Given the description of an element on the screen output the (x, y) to click on. 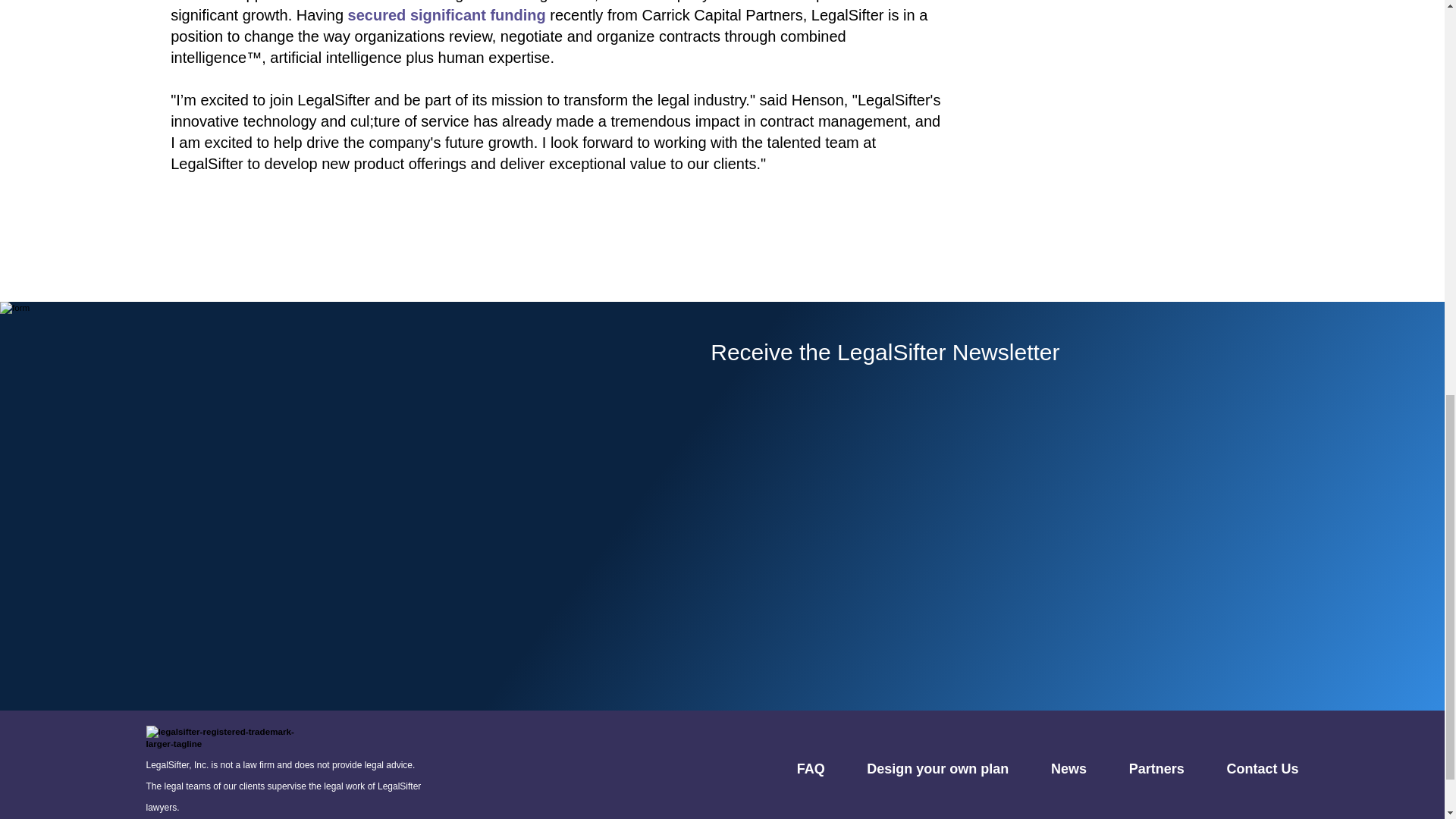
legalsifter-registered-trademark-larger-tagline (221, 738)
